Given the description of an element on the screen output the (x, y) to click on. 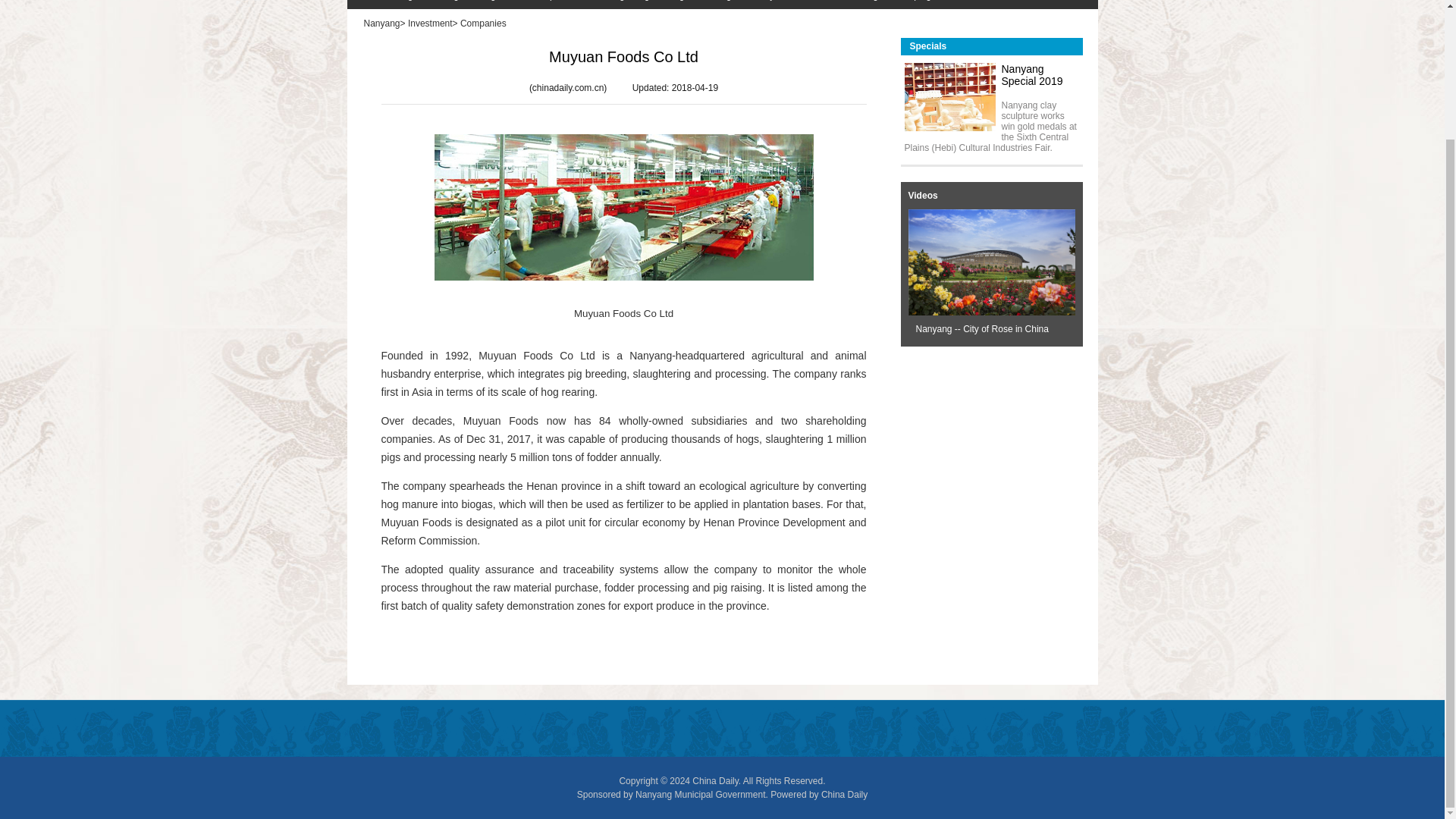
Xixia (570, 4)
Fangcheng (618, 4)
Dengzhou (486, 4)
Wancheng (384, 4)
Wolong (435, 4)
Sheqi (534, 4)
